Given the description of an element on the screen output the (x, y) to click on. 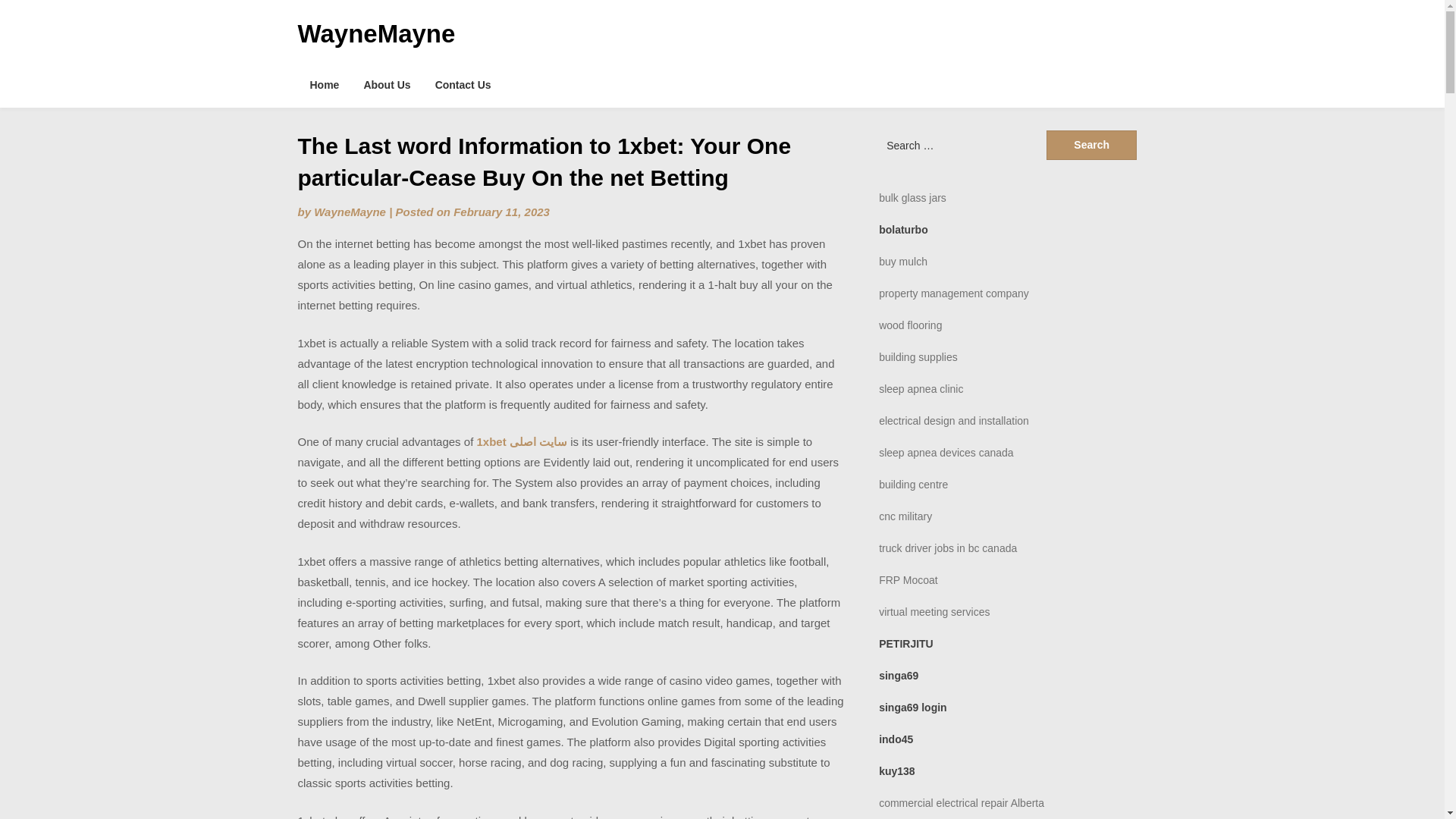
buy mulch (903, 261)
sleep apnea devices canada (946, 452)
virtual meeting services (934, 612)
electrical design and installation (954, 420)
WayneMayne (375, 33)
truck driver jobs in bc canada (947, 548)
singa69 login (912, 707)
bulk glass jars (912, 197)
wood flooring (910, 325)
WayneMayne (349, 211)
property management company (954, 293)
Home (323, 84)
building centre (913, 484)
sleep apnea clinic (920, 388)
building supplies (918, 357)
